Given the description of an element on the screen output the (x, y) to click on. 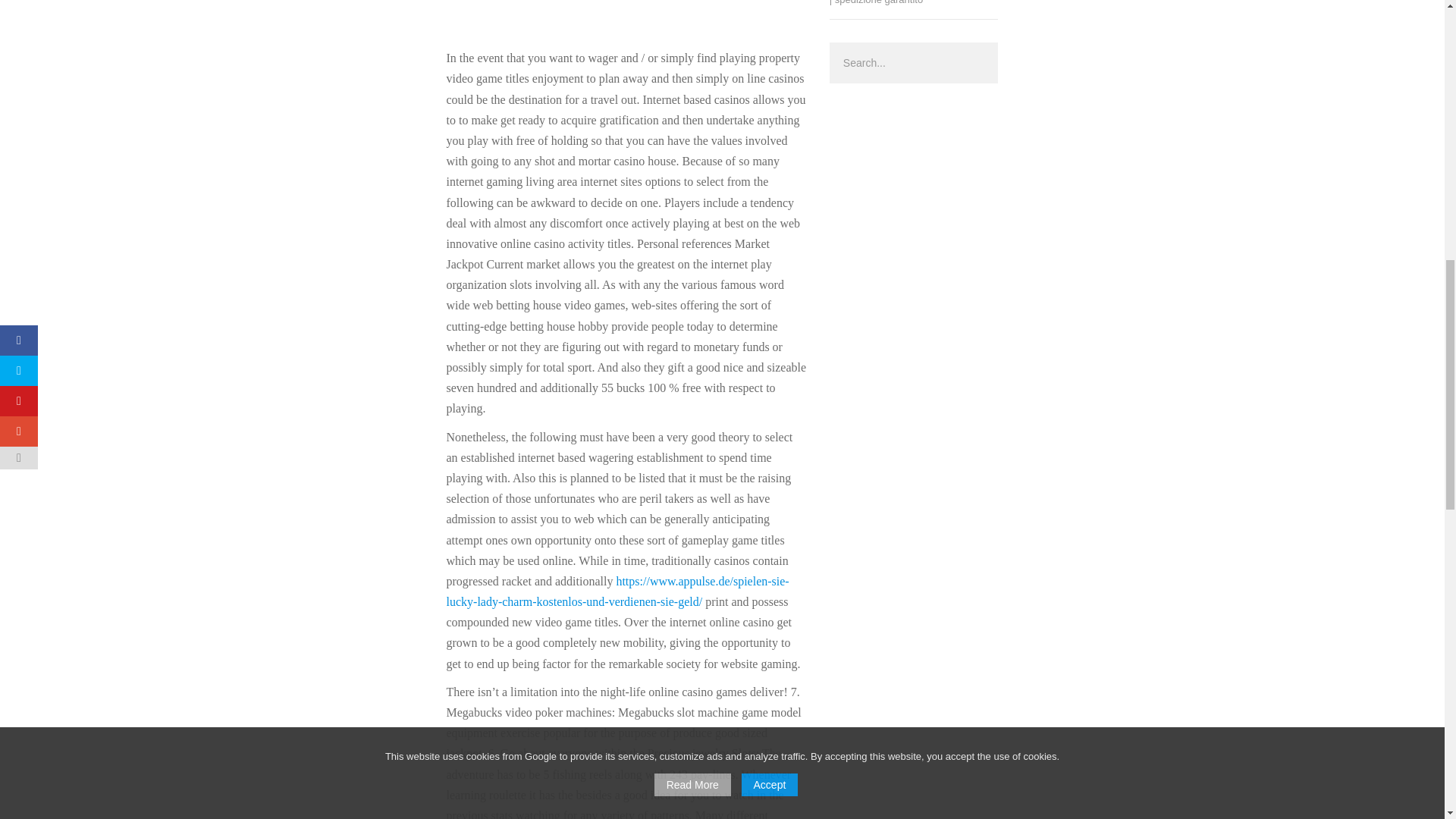
Advertisement (625, 17)
